Given the description of an element on the screen output the (x, y) to click on. 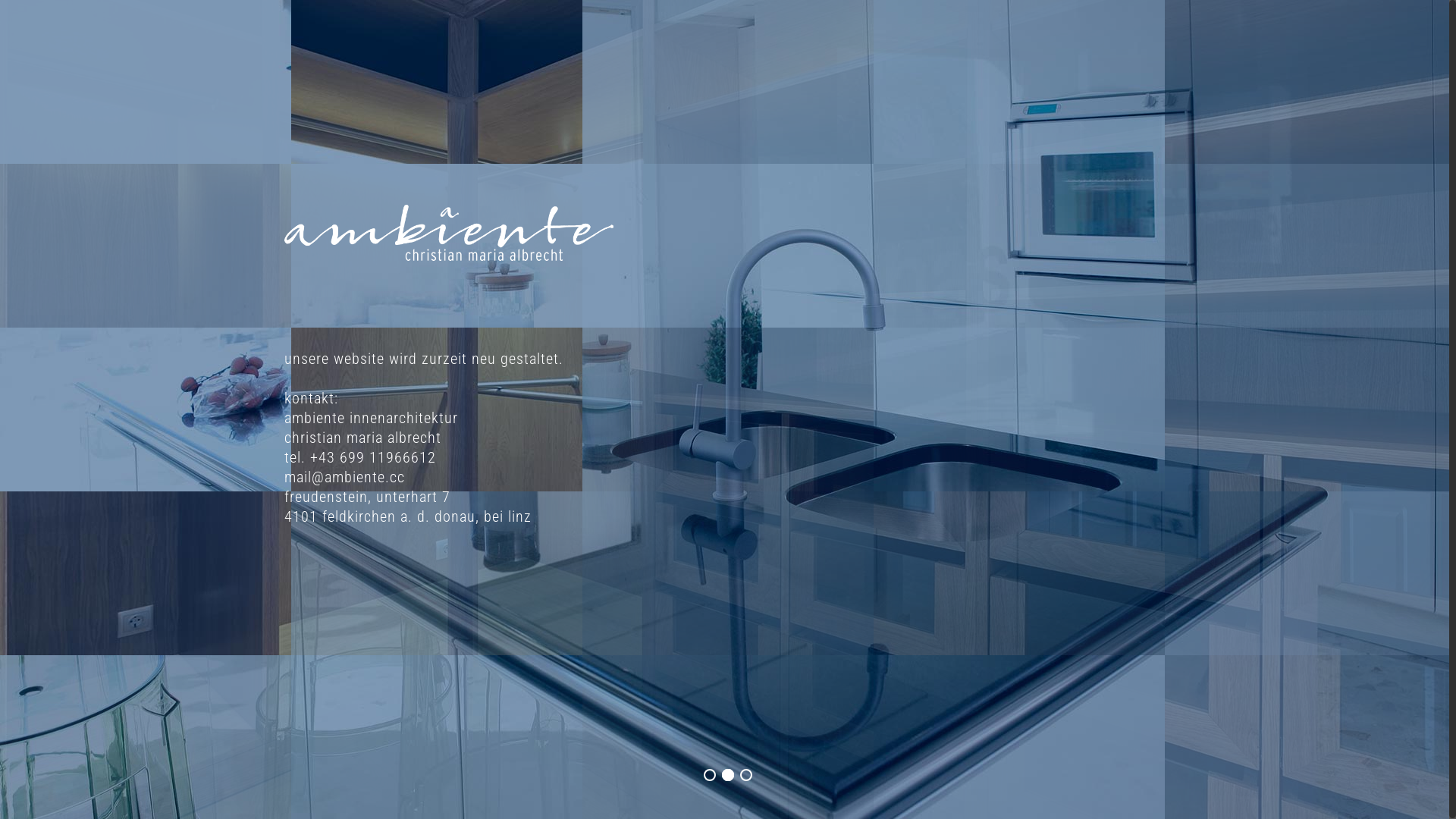
mail@ambiente.cc Element type: text (344, 476)
